Given the description of an element on the screen output the (x, y) to click on. 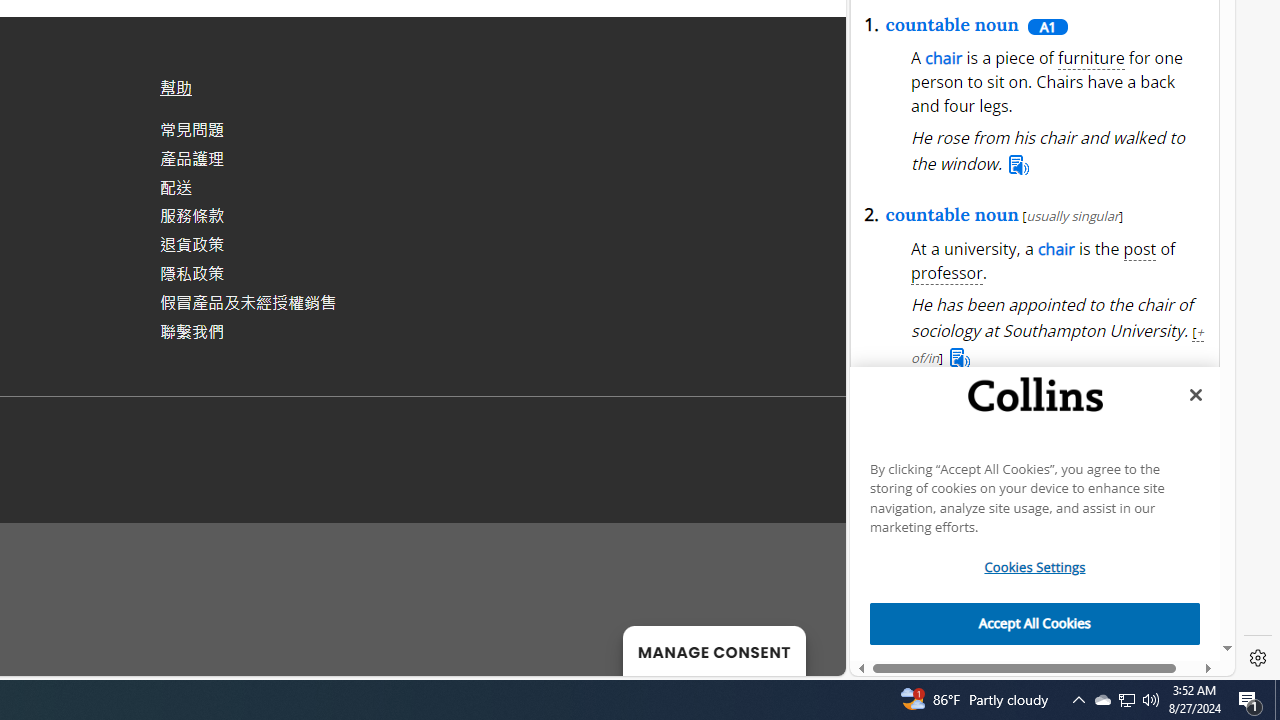
[+ of/in] (1057, 344)
B2 (951, 653)
Translate chair to Choose language (1066, 285)
Click to scroll right (1192, 532)
post (1139, 250)
direct (1103, 125)
Go to top (804, 647)
[+ of] (1161, 601)
